Given the description of an element on the screen output the (x, y) to click on. 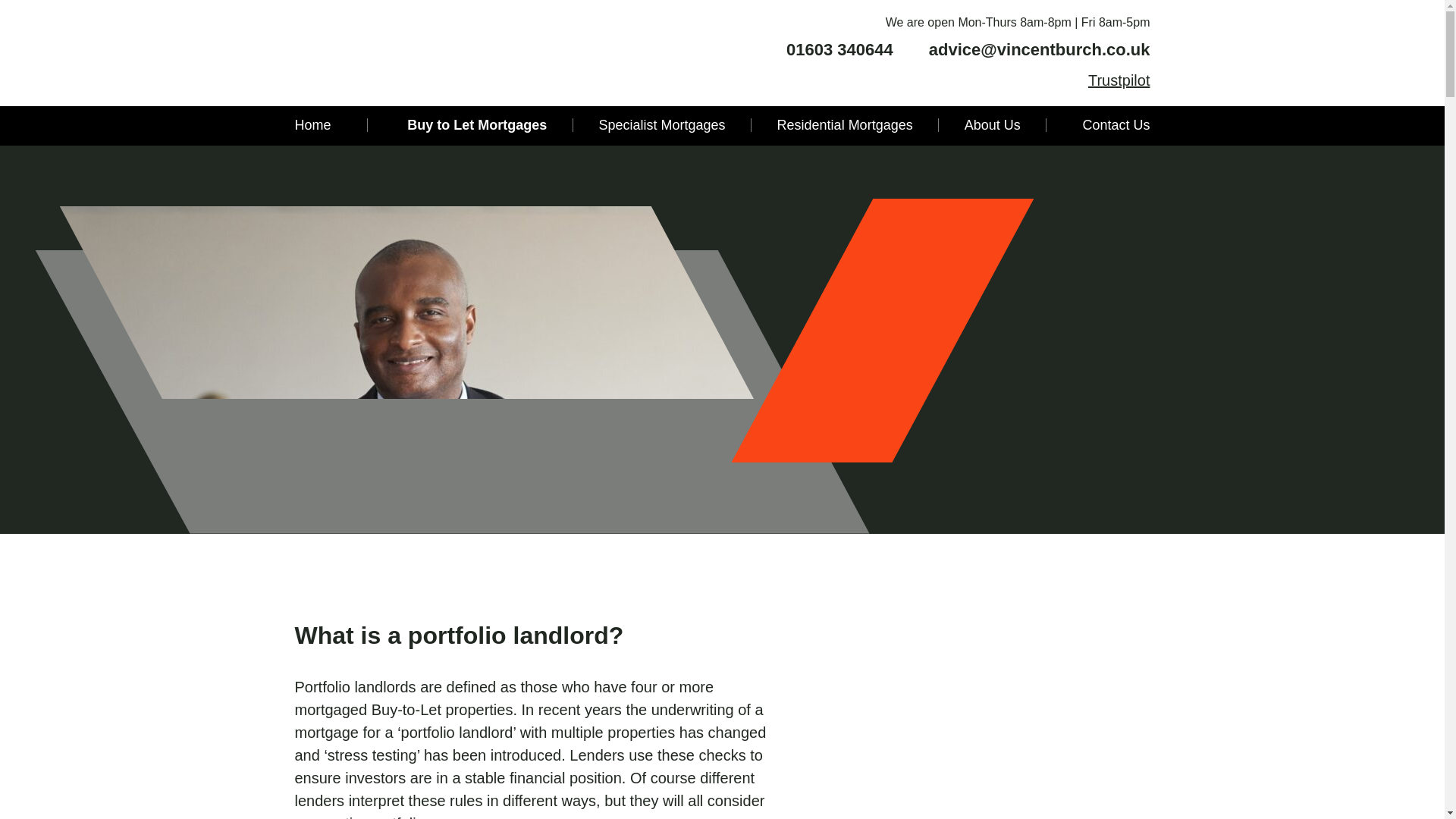
Telephone (772, 49)
Telephone 01603 340644 (830, 50)
Residential Mortgages (845, 124)
Trustpilot (1118, 80)
Home (322, 124)
Specialist Mortgages (661, 124)
About Us (991, 124)
Vincent Burch (374, 51)
Contact Us (1105, 124)
Email (912, 49)
